Given the description of an element on the screen output the (x, y) to click on. 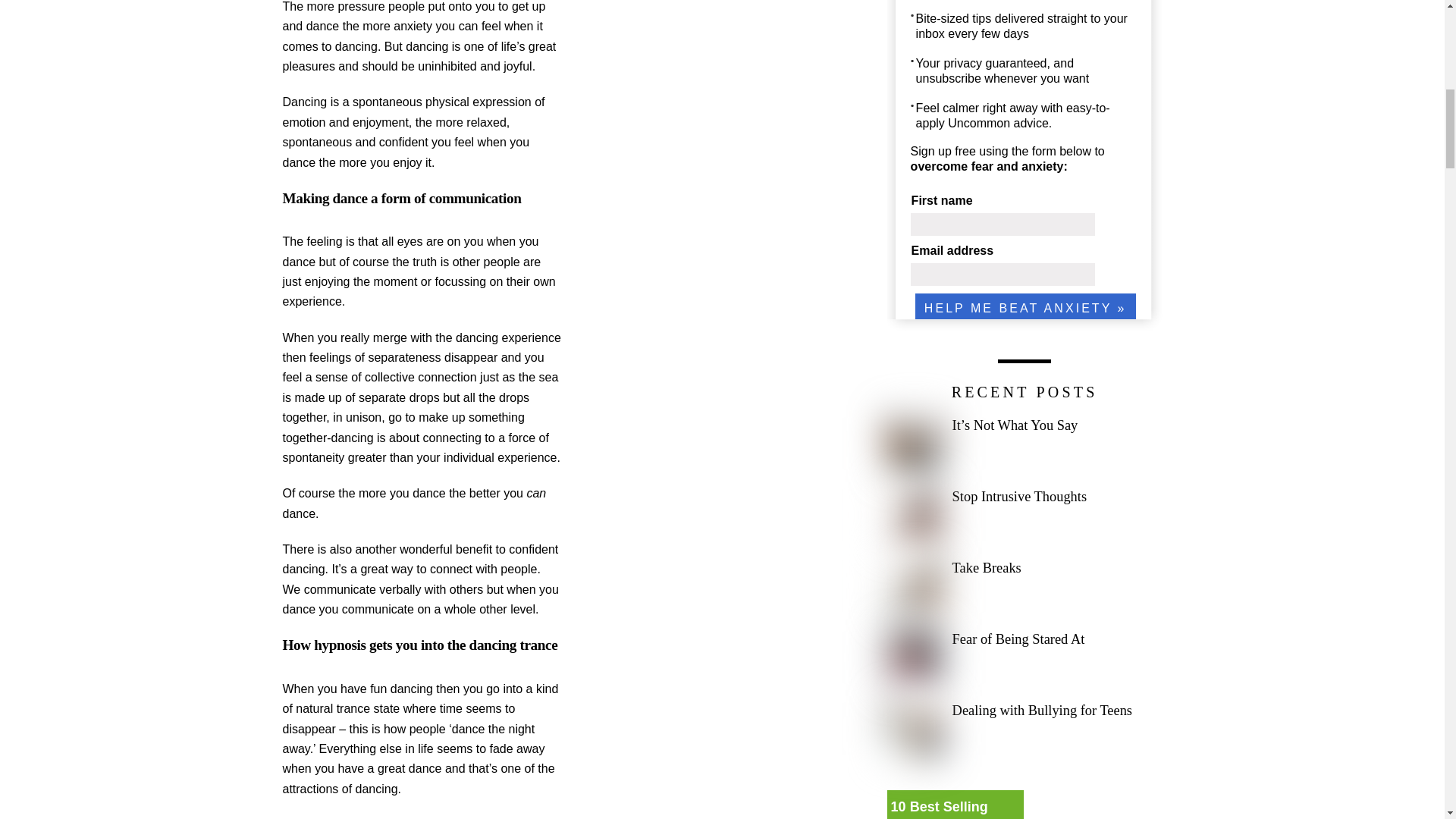
Stop Intrusive Thoughts (913, 514)
Fear of Being Stared At (913, 656)
Dealing with Bullying for Teens (913, 728)
Take Breaks (913, 585)
It's Not What You Say (913, 443)
